Given the description of an element on the screen output the (x, y) to click on. 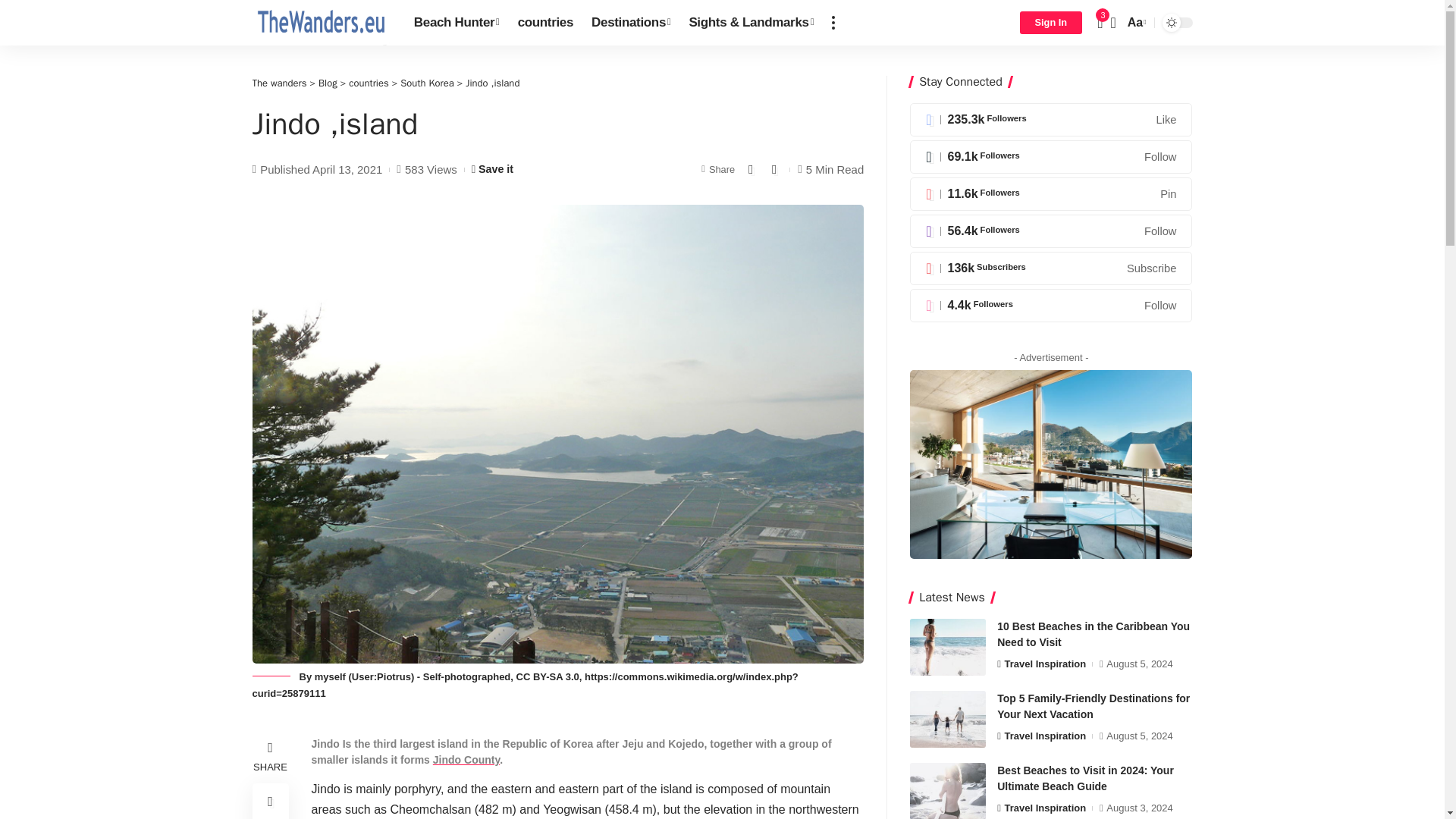
Beach Hunter (456, 22)
Go to the countries Category archives. (368, 82)
10 Best Beaches in the Caribbean You Need to Visit (947, 647)
Destinations (630, 22)
Go to the South Korea Category archives. (426, 82)
countries (545, 22)
Go to Blog. (327, 82)
The wanders (319, 22)
Go to The wanders. (278, 82)
